Given the description of an element on the screen output the (x, y) to click on. 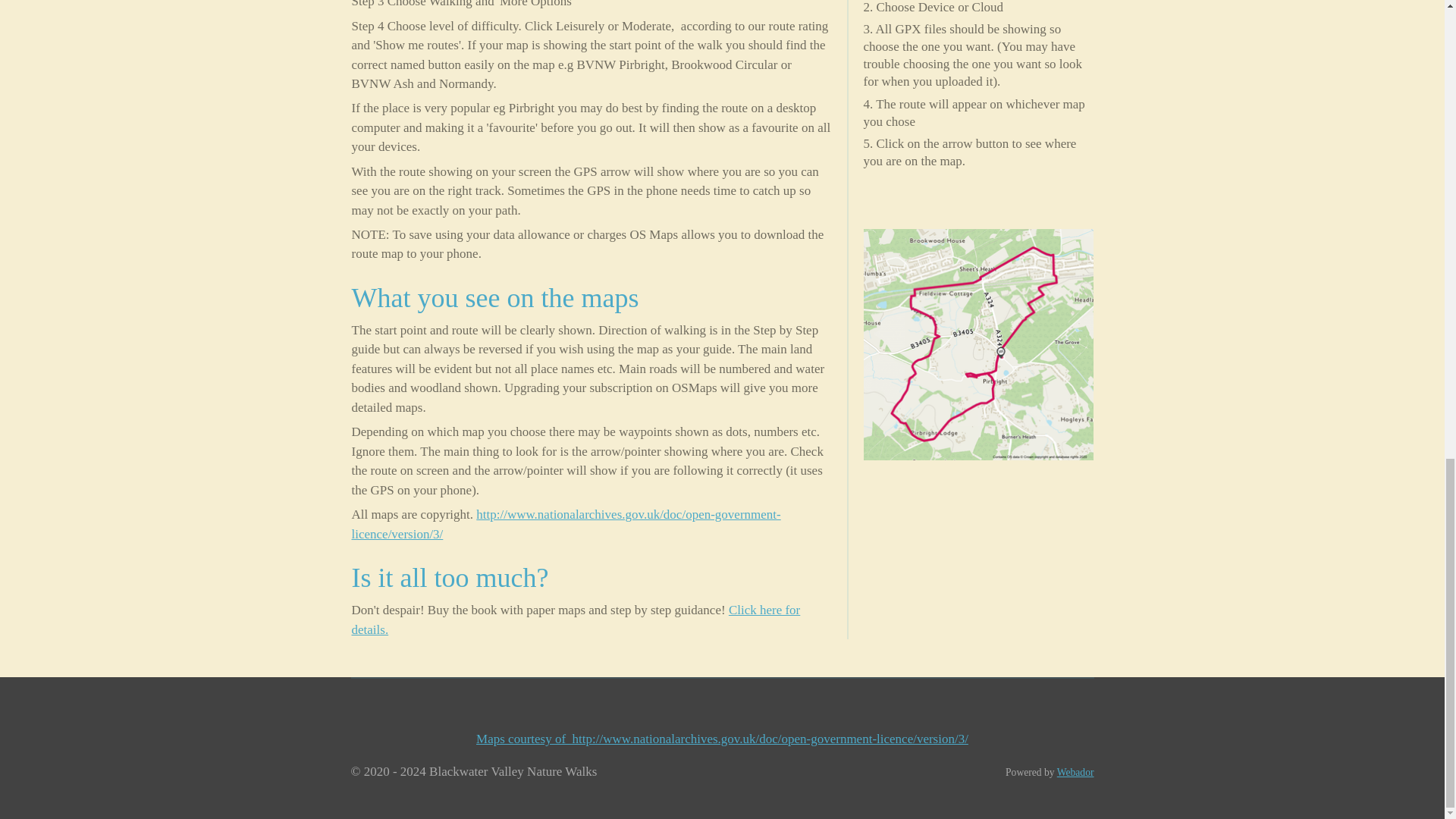
Click here for details. (576, 619)
Webador (1075, 772)
